Given the description of an element on the screen output the (x, y) to click on. 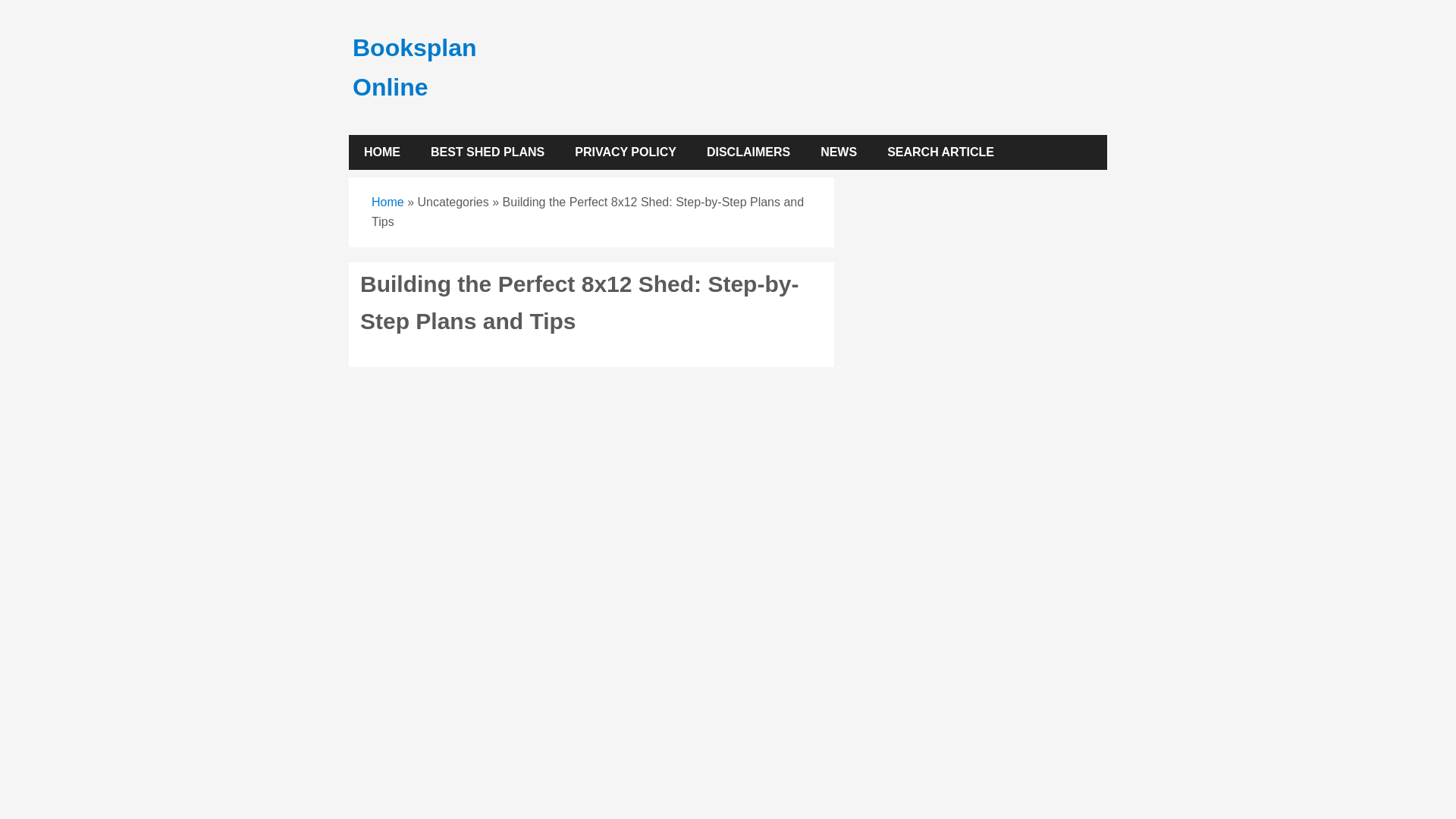
NEWS (838, 152)
DISCLAIMERS (748, 152)
SEARCH ARTICLE (940, 152)
PRIVACY POLICY (625, 152)
Home (387, 201)
HOME (381, 152)
BEST SHED PLANS (486, 152)
Booksplan Online (414, 67)
